Given the description of an element on the screen output the (x, y) to click on. 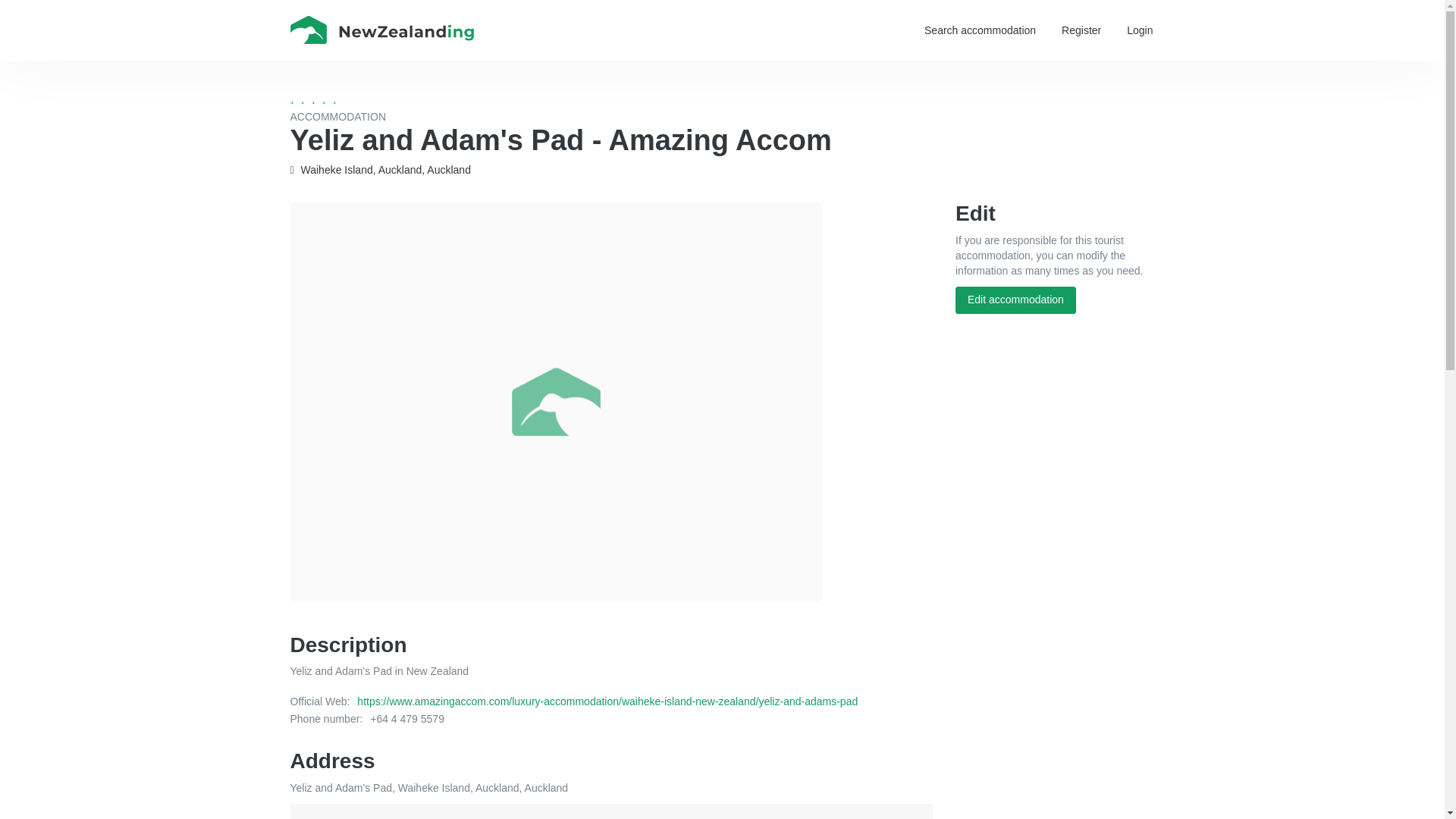
Login (1139, 30)
Register (1080, 30)
Search accommodation (979, 30)
Edit accommodation (1015, 299)
